Given the description of an element on the screen output the (x, y) to click on. 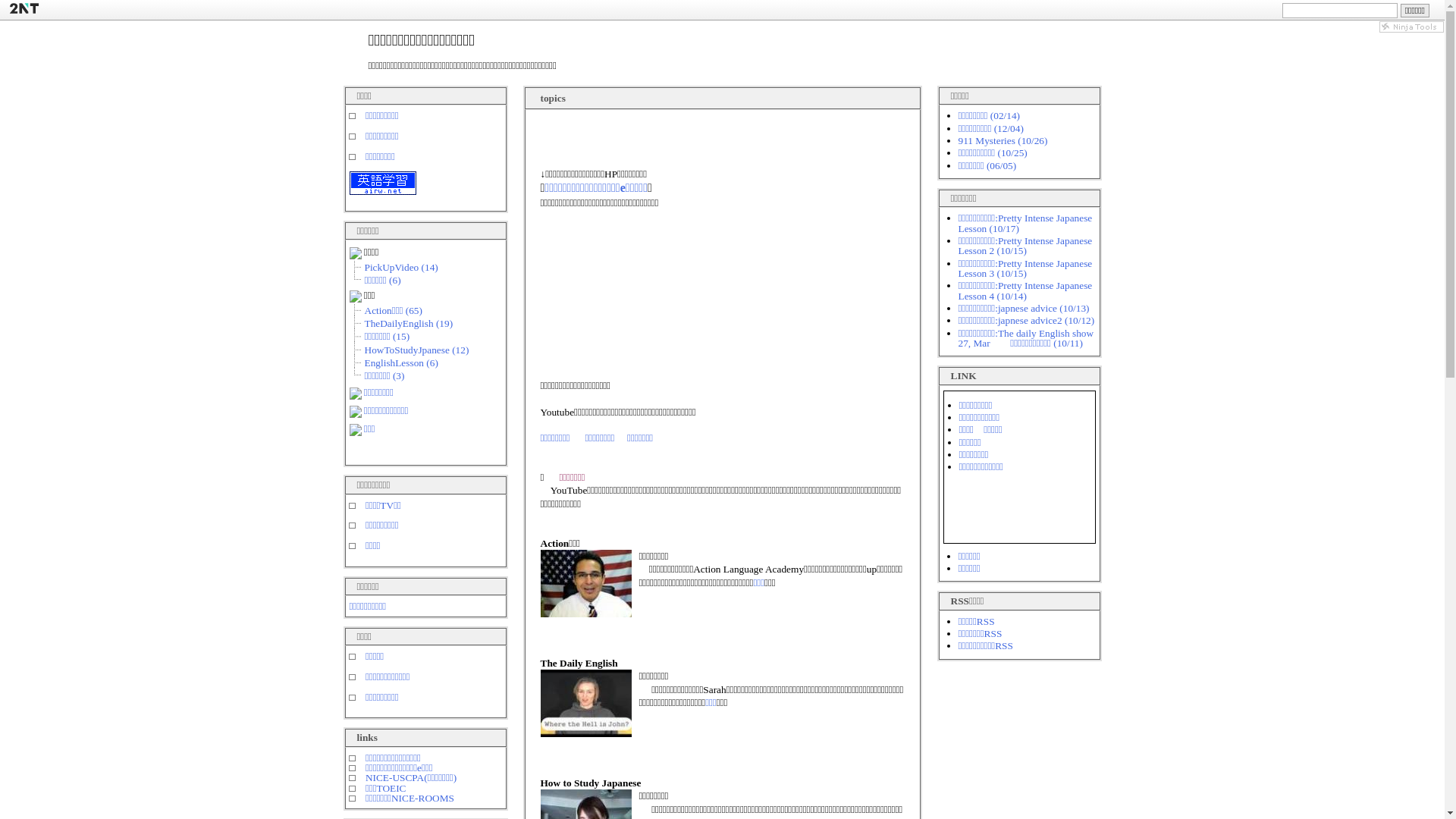
TheDailyEnglish (19) Element type: text (408, 323)
911 Mysteries (10/26) Element type: text (1003, 140)
EnglishLesson (6) Element type: text (400, 362)
Advertisement Element type: hover (716, 303)
HowToStudyJpanese (12) Element type: text (416, 349)
PickUpVideo (14) Element type: text (400, 267)
Advertisement Element type: hover (716, 258)
